Given the description of an element on the screen output the (x, y) to click on. 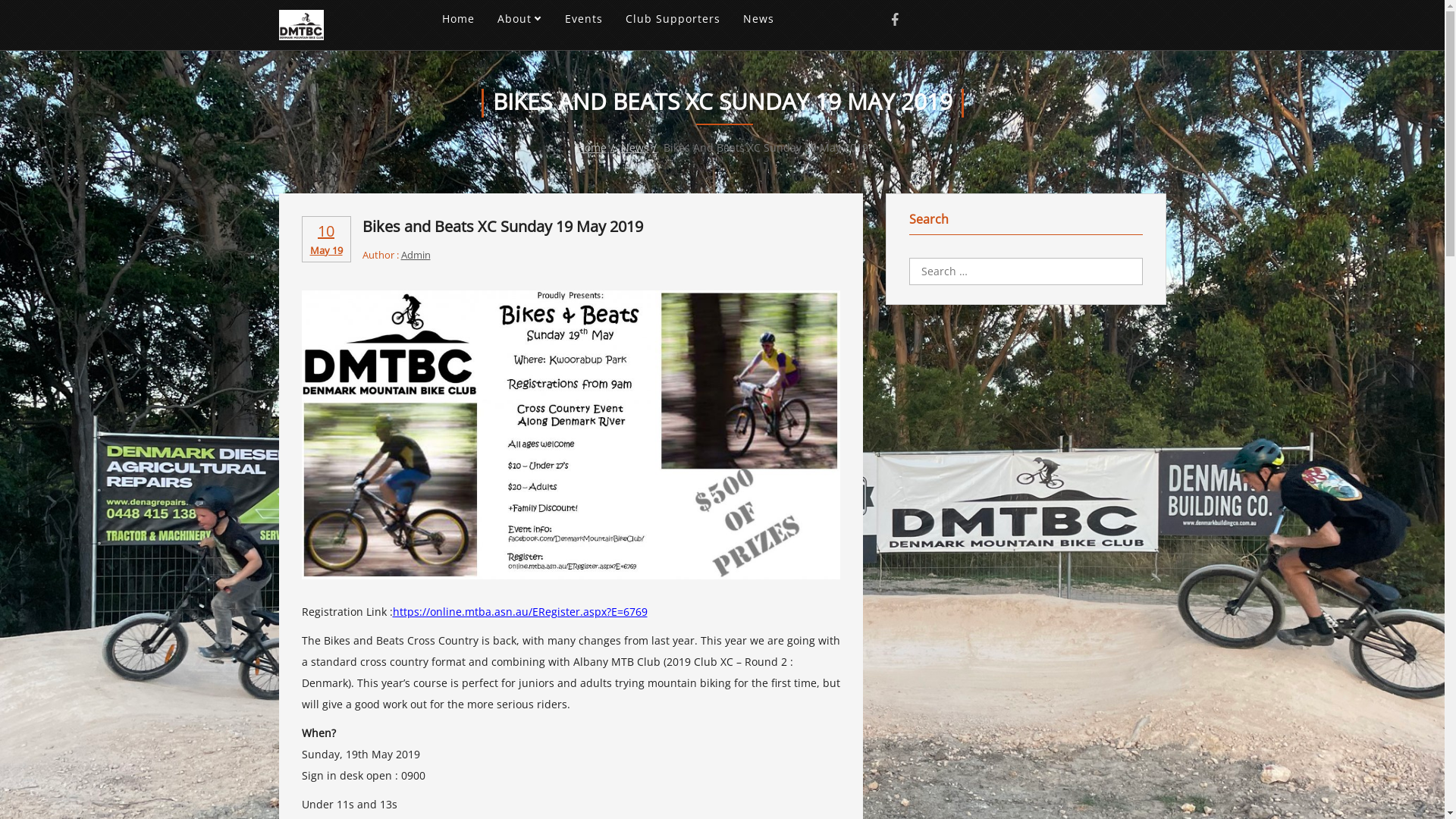
10
May 19 Element type: text (326, 238)
Home Element type: text (596, 147)
Home Element type: text (457, 18)
News Element type: text (639, 147)
News Element type: text (758, 18)
https://online.mtba.asn.au/ERegister.aspx?E=6769 Element type: text (519, 611)
About Element type: text (519, 18)
Events Element type: text (583, 18)
Admin Element type: text (414, 254)
Search Element type: text (23, 9)
Club Supporters Element type: text (671, 18)
